Given the description of an element on the screen output the (x, y) to click on. 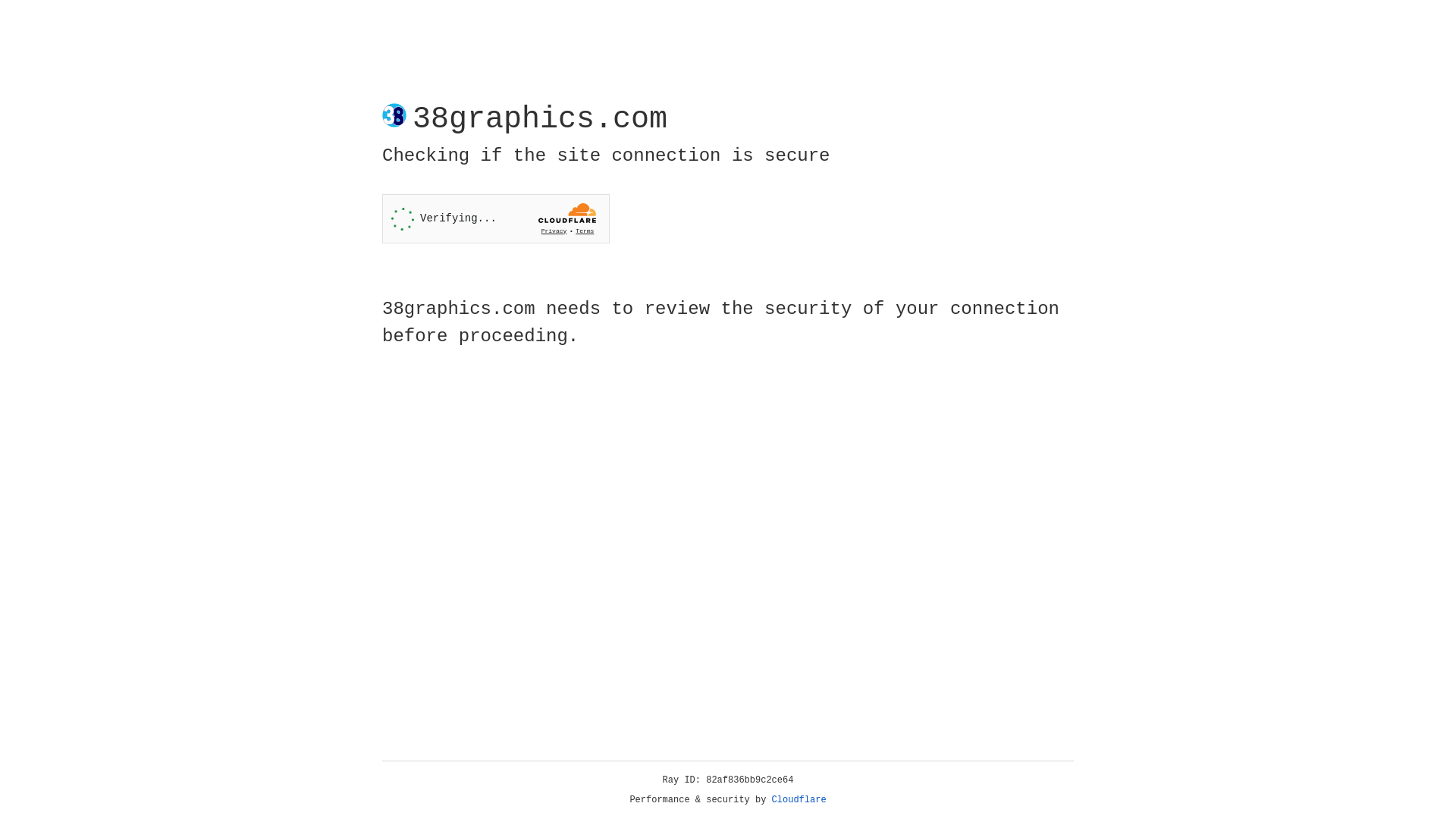
Cloudflare Element type: text (798, 799)
Widget containing a Cloudflare security challenge Element type: hover (495, 218)
